Given the description of an element on the screen output the (x, y) to click on. 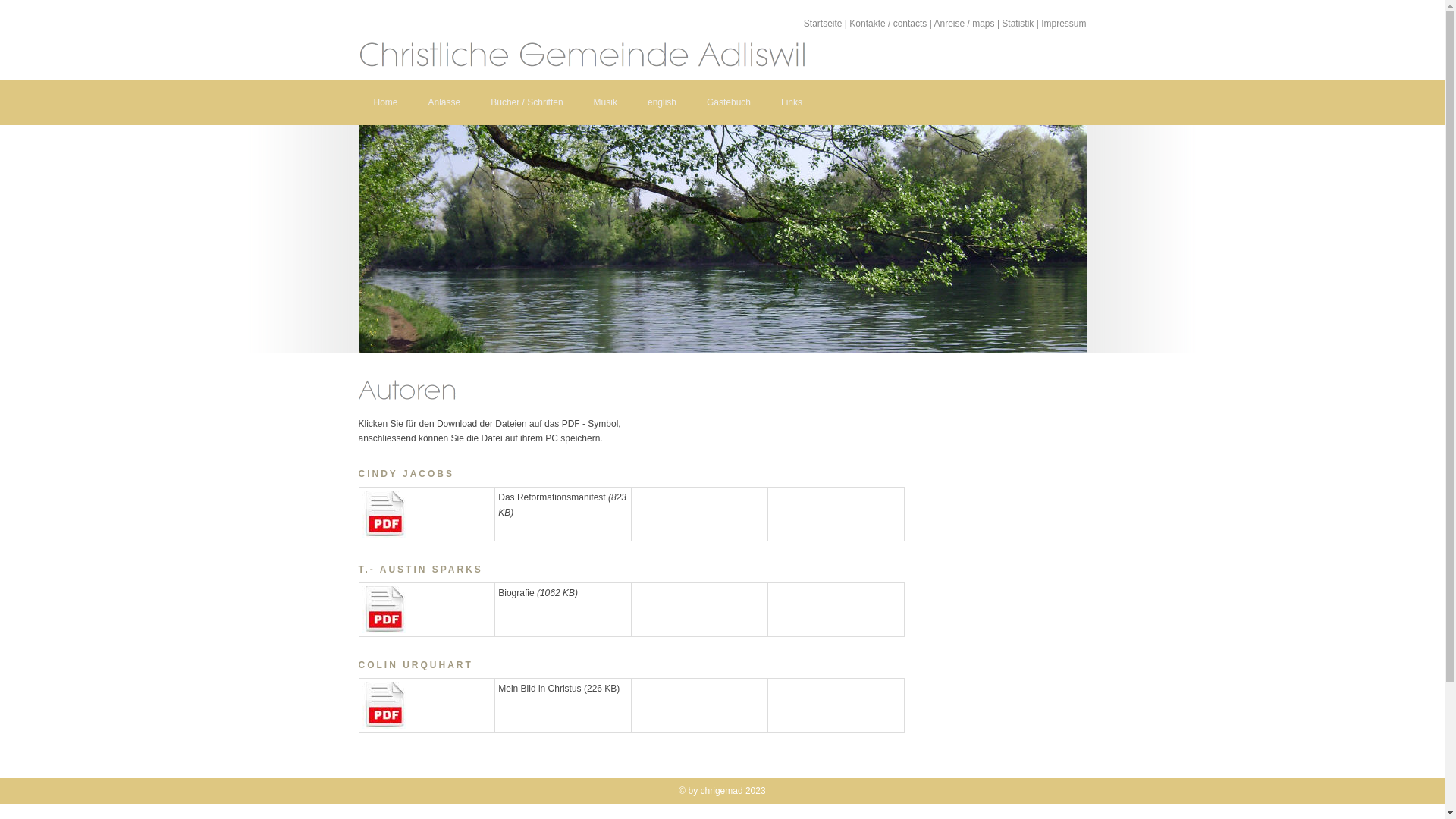
Statistik Element type: text (1017, 23)
Links Element type: text (791, 102)
Home Element type: text (384, 102)
Kontakte / contacts Element type: text (887, 23)
Anreise / maps Element type: text (964, 23)
english Element type: text (661, 102)
Impressum Element type: text (1063, 23)
Startseite Element type: text (822, 23)
Musik Element type: text (605, 102)
